Given the description of an element on the screen output the (x, y) to click on. 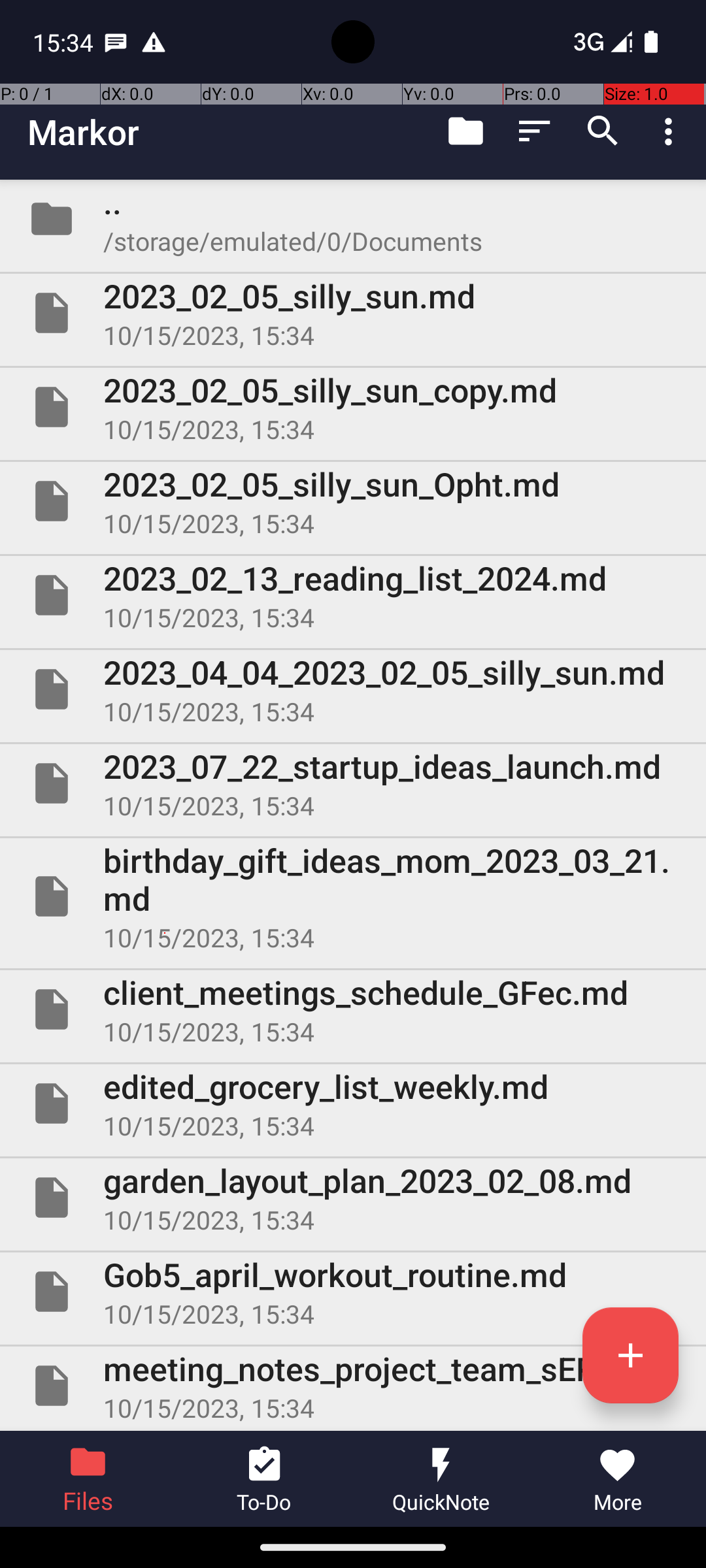
Create a new file or folder Element type: android.widget.ImageButton (630, 1355)
Go to Element type: android.widget.TextView (465, 131)
Sort by Element type: android.widget.TextView (534, 131)
Folder ..  Element type: android.widget.LinearLayout (353, 218)
File 2023_02_05_silly_sun.md  Element type: android.widget.LinearLayout (353, 312)
File 2023_02_05_silly_sun_copy.md  Element type: android.widget.LinearLayout (353, 406)
File 2023_02_05_silly_sun_Opht.md  Element type: android.widget.LinearLayout (353, 500)
File 2023_02_13_reading_list_2024.md  Element type: android.widget.LinearLayout (353, 594)
File 2023_04_04_2023_02_05_silly_sun.md  Element type: android.widget.LinearLayout (353, 689)
File 2023_07_22_startup_ideas_launch.md  Element type: android.widget.LinearLayout (353, 783)
File birthday_gift_ideas_mom_2023_03_21.md  Element type: android.widget.LinearLayout (353, 896)
File client_meetings_schedule_GFec.md  Element type: android.widget.LinearLayout (353, 1009)
File edited_grocery_list_weekly.md  Element type: android.widget.LinearLayout (353, 1103)
File garden_layout_plan_2023_02_08.md  Element type: android.widget.LinearLayout (353, 1197)
File Gob5_april_workout_routine.md  Element type: android.widget.LinearLayout (353, 1291)
File meeting_notes_project_team_sERF.md  Element type: android.widget.LinearLayout (353, 1385)
